Given the description of an element on the screen output the (x, y) to click on. 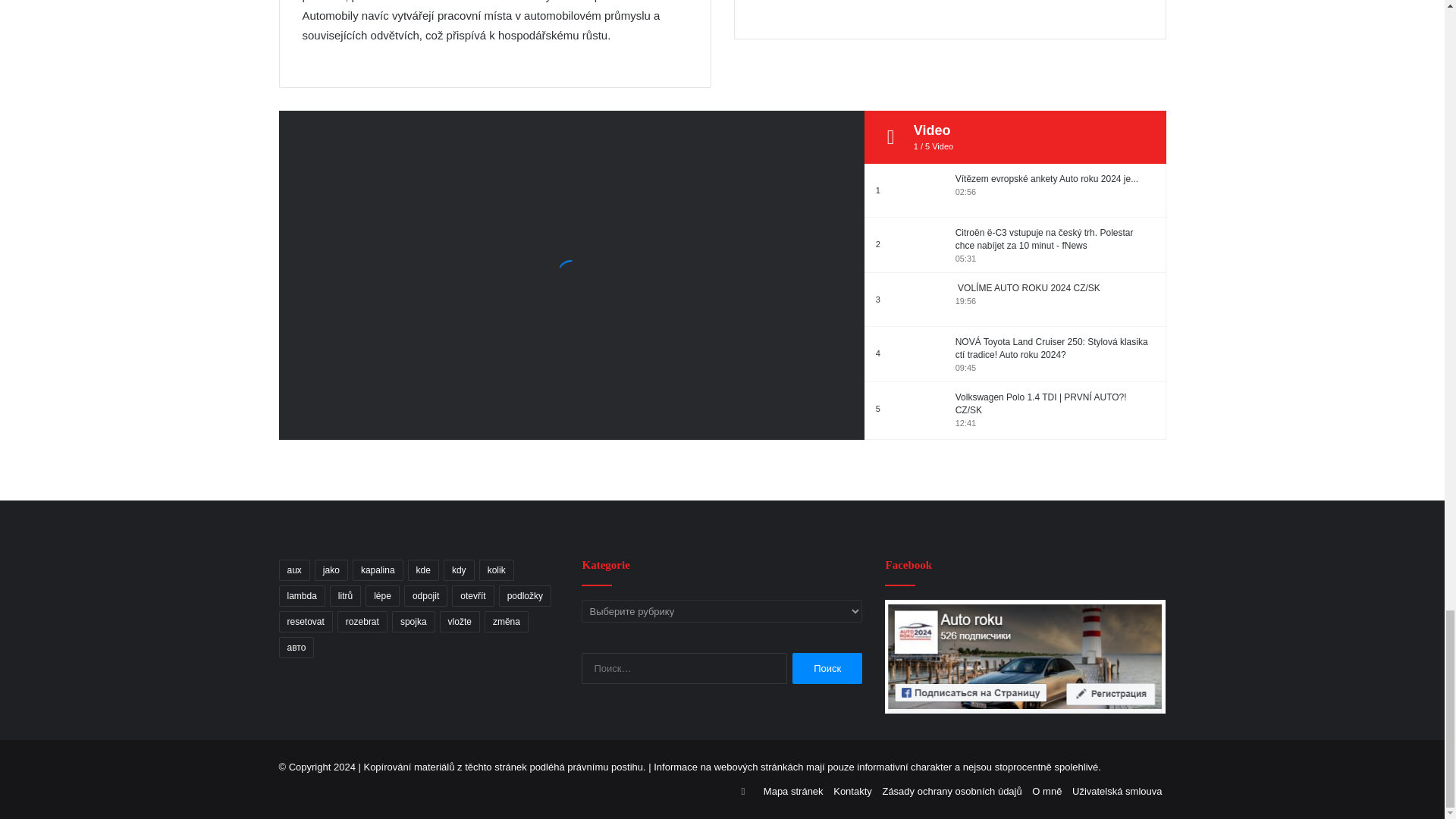
Facebook (1025, 656)
